Given the description of an element on the screen output the (x, y) to click on. 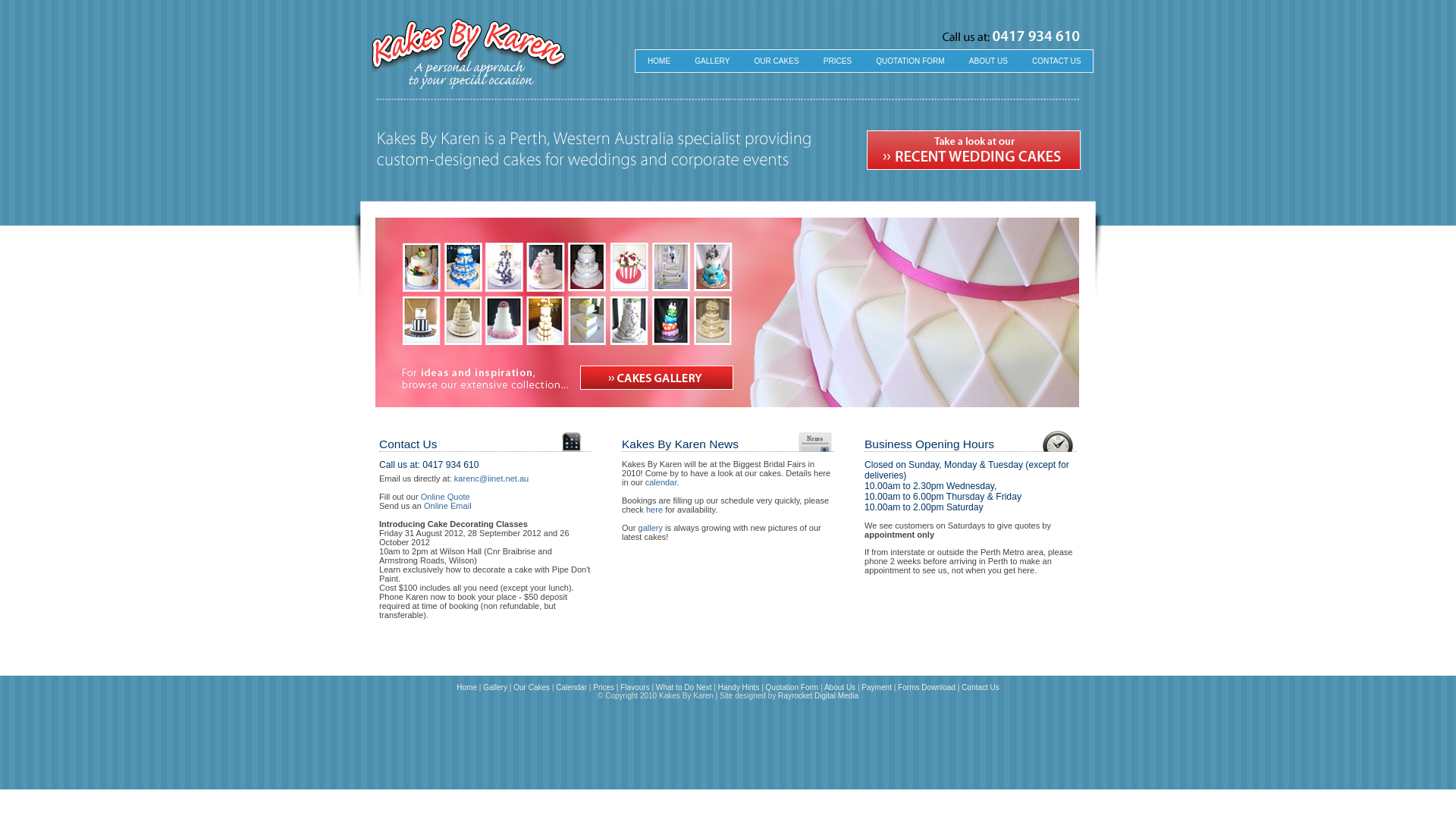
HOME Element type: text (658, 61)
here Element type: text (654, 509)
Online Quote Element type: text (445, 496)
karenc@iinet.net.au Element type: text (491, 478)
GALLERY Element type: text (711, 61)
Payment Element type: text (876, 687)
Forms Download Element type: text (926, 687)
CONTACT US Element type: text (1055, 61)
Calendar Element type: text (570, 687)
Handy Hints Element type: text (738, 687)
ABOUT US Element type: text (988, 61)
Quotation Form Element type: text (792, 687)
PRICES Element type: text (837, 61)
Prices Element type: text (603, 687)
Rayrocket Digital Media Element type: text (818, 695)
Our Cakes Element type: text (531, 687)
Flavours Element type: text (634, 687)
Gallery Element type: text (495, 687)
What to Do Next Element type: text (683, 687)
Home Element type: text (466, 687)
QUOTATION FORM Element type: text (910, 61)
Contact Us Element type: text (980, 687)
About Us Element type: text (839, 687)
gallery Element type: text (649, 527)
OUR CAKES Element type: text (775, 61)
Online Email Element type: text (447, 505)
calendar Element type: text (661, 481)
